Given the description of an element on the screen output the (x, y) to click on. 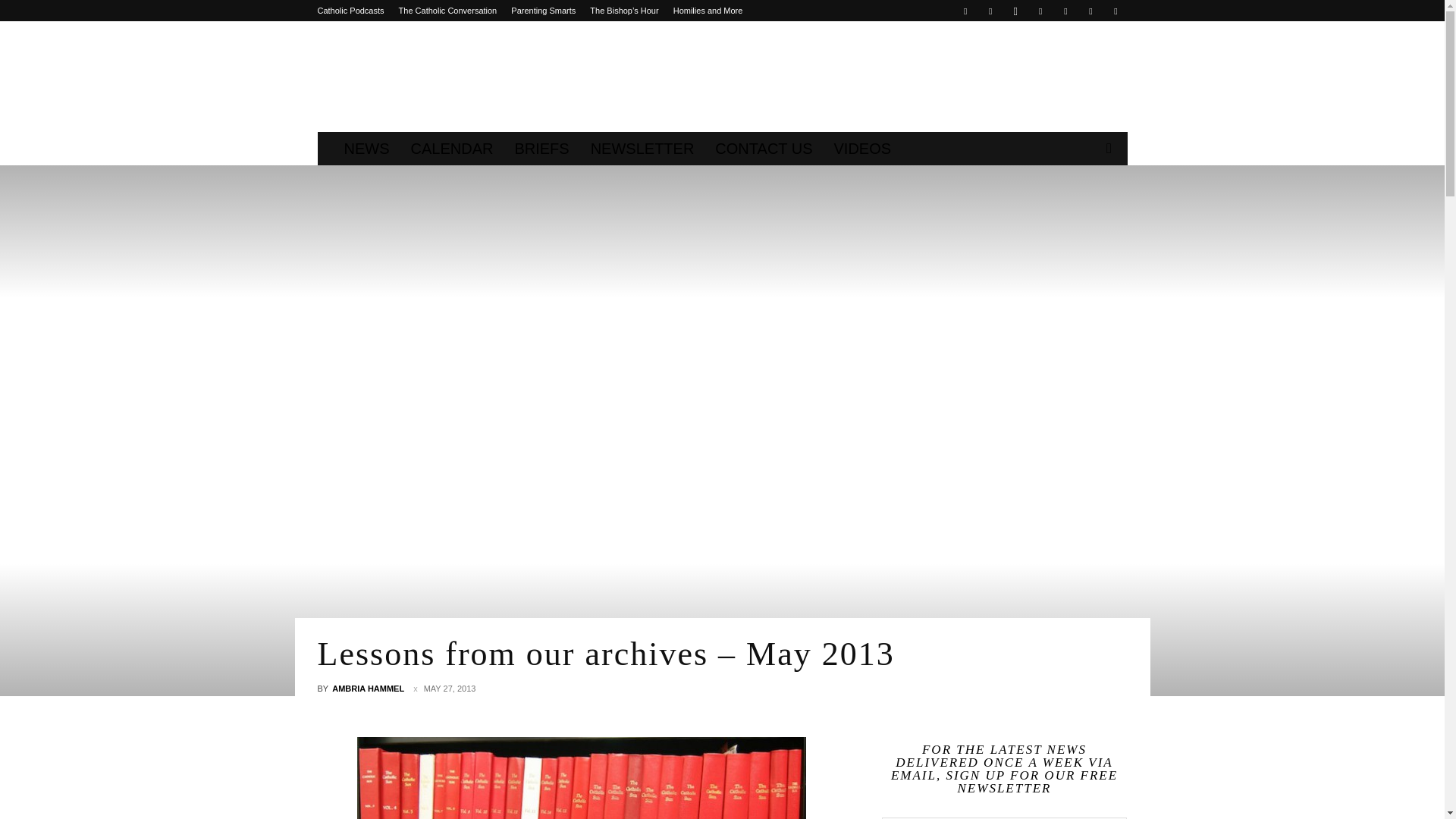
Linkedin (1040, 10)
Parenting Smarts (543, 10)
Catholic Podcasts (350, 10)
Instagram (1015, 10)
Flickr (989, 10)
The Catholic Conversation (447, 10)
Homilies and More (707, 10)
Facebook (964, 10)
Twitter (1065, 10)
NEWS (366, 148)
